Given the description of an element on the screen output the (x, y) to click on. 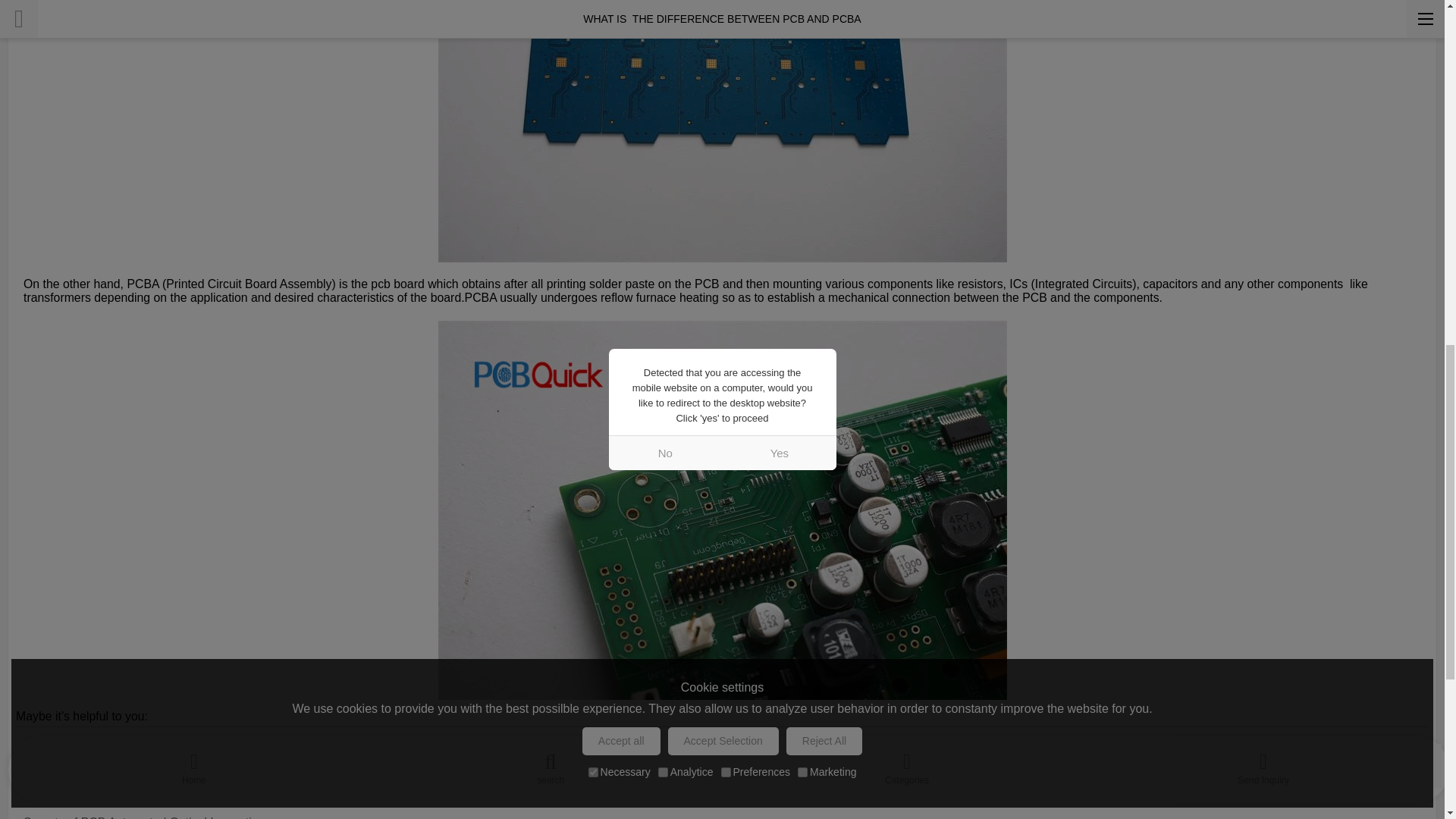
Are you still worrying about the LED Strip custom service? (722, 764)
Are you still worrying about the LED Strip custom service? (722, 764)
